Given the description of an element on the screen output the (x, y) to click on. 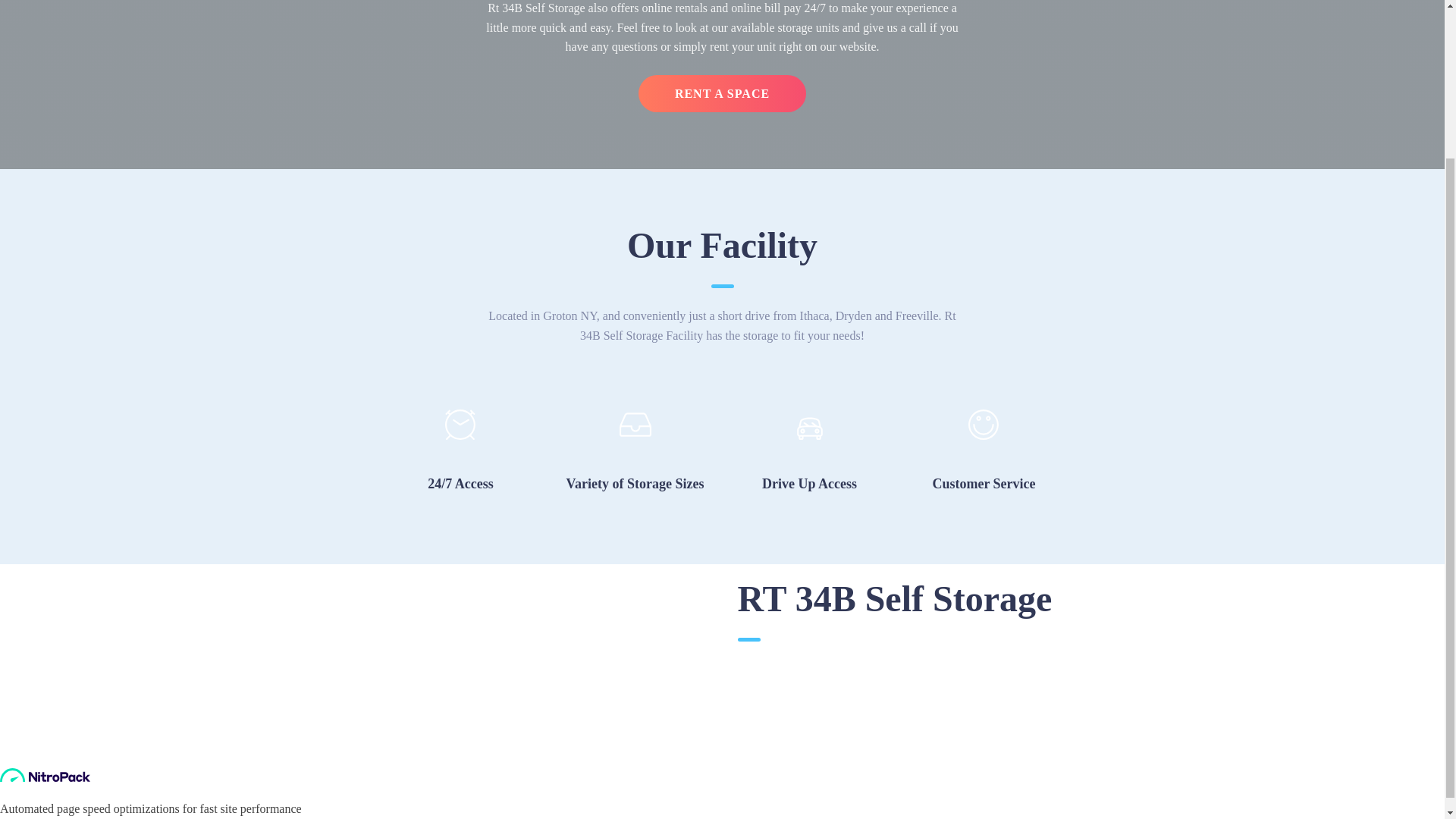
RENT A SPACE (722, 94)
